Given the description of an element on the screen output the (x, y) to click on. 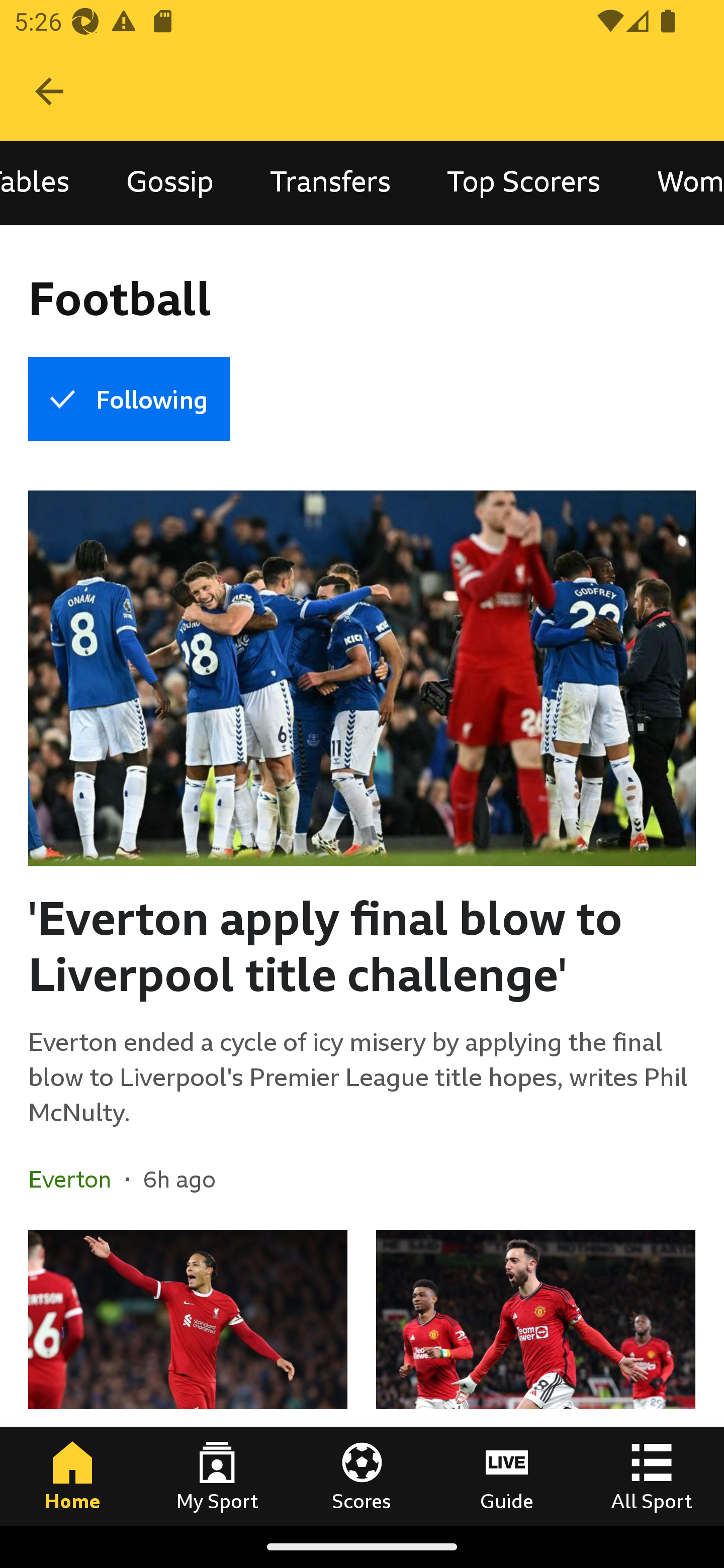
Navigate up (49, 91)
Tables (48, 183)
Gossip (169, 183)
Transfers (329, 183)
Top Scorers (523, 183)
Women (676, 183)
Following Football Following (129, 398)
Everton In the section Everton (76, 1178)
Van Dijk questions desire of team-mates after loss (188, 1377)
Man Utd fight back twice to beat Sheff Utd (535, 1377)
My Sport (216, 1475)
Scores (361, 1475)
Guide (506, 1475)
All Sport (651, 1475)
